Given the description of an element on the screen output the (x, y) to click on. 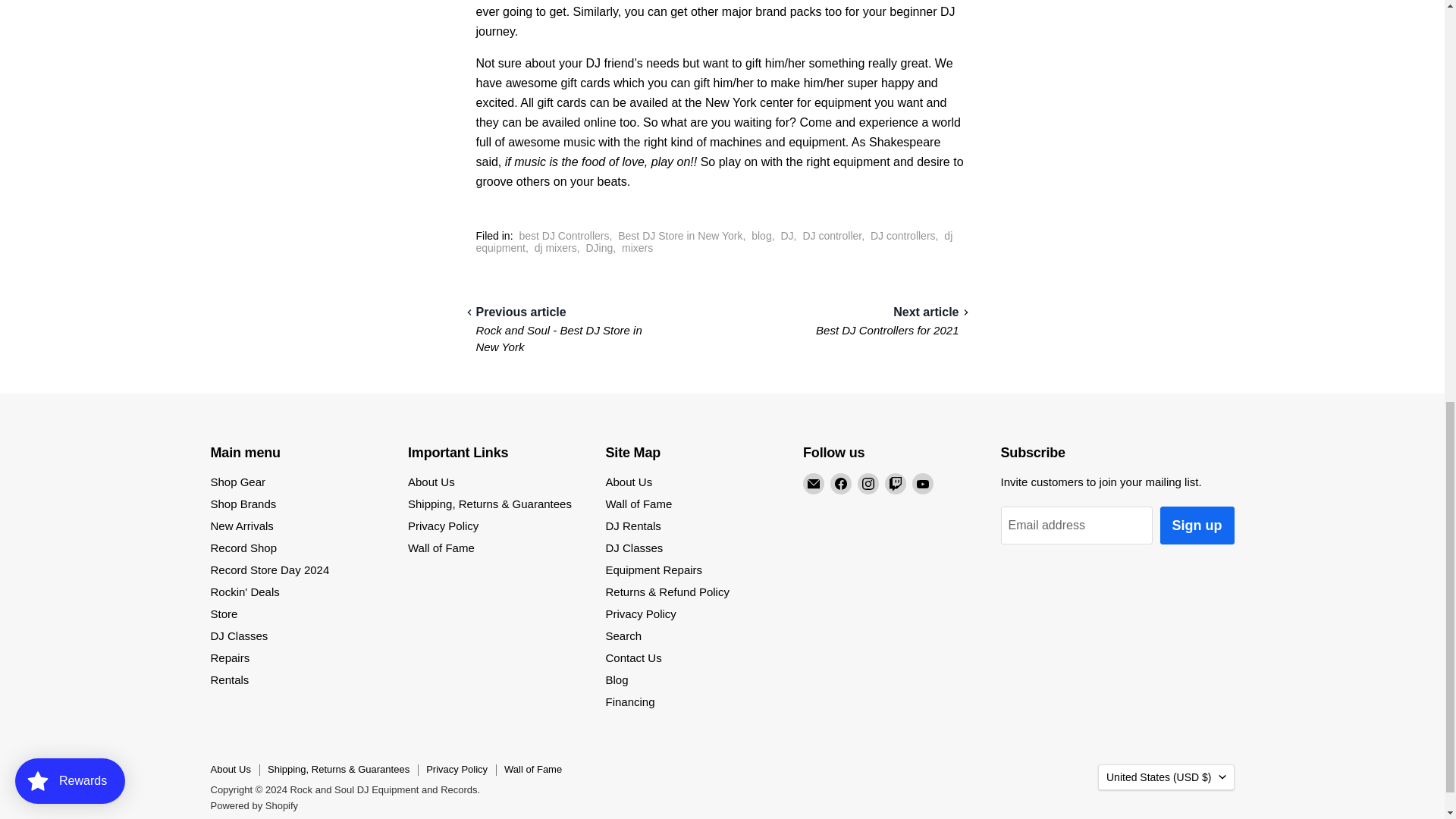
Facebook (840, 483)
Show articles tagged DJing (598, 247)
Show articles tagged DJ controller (831, 235)
Show articles tagged Best DJ Store in New York (679, 235)
Show articles tagged blog (761, 235)
YouTube (922, 483)
Show articles tagged dj mixers (555, 247)
Instagram (868, 483)
Show articles tagged DJ (786, 235)
Twitch (895, 483)
